Given the description of an element on the screen output the (x, y) to click on. 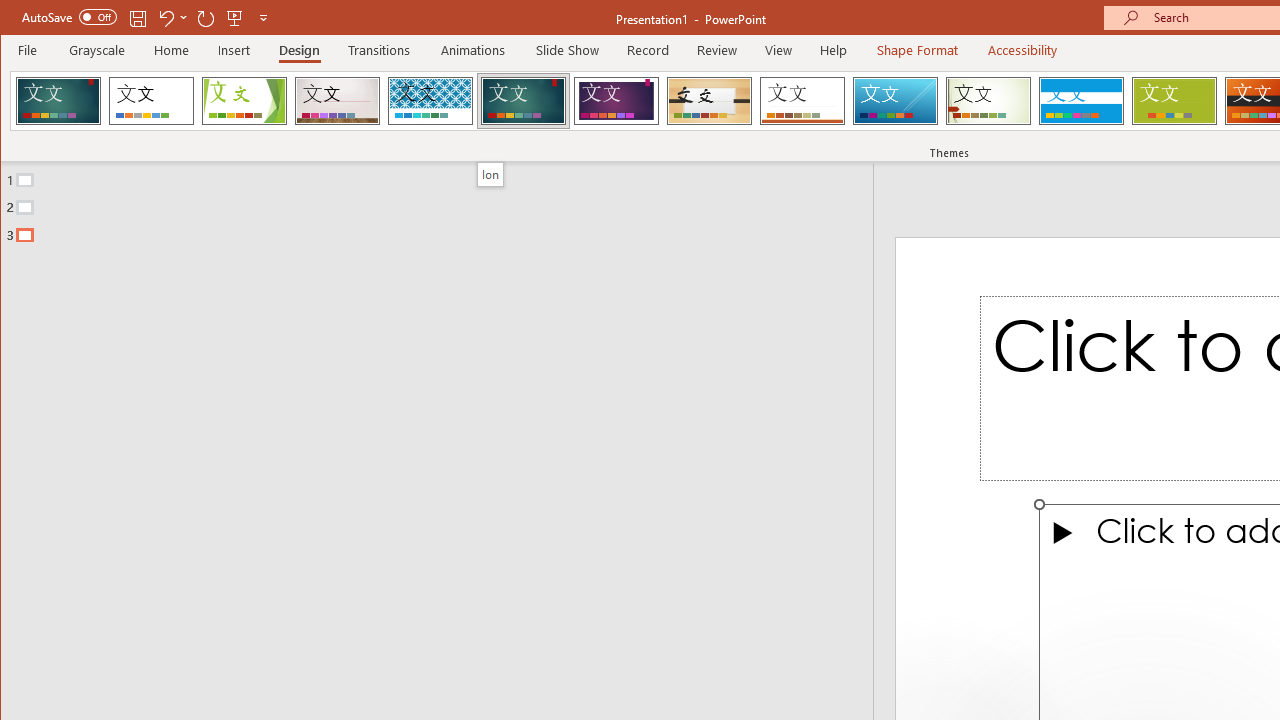
Wisp (988, 100)
Integral (430, 100)
Ion (523, 100)
Office Theme (151, 100)
Shape Format (916, 50)
